Given the description of an element on the screen output the (x, y) to click on. 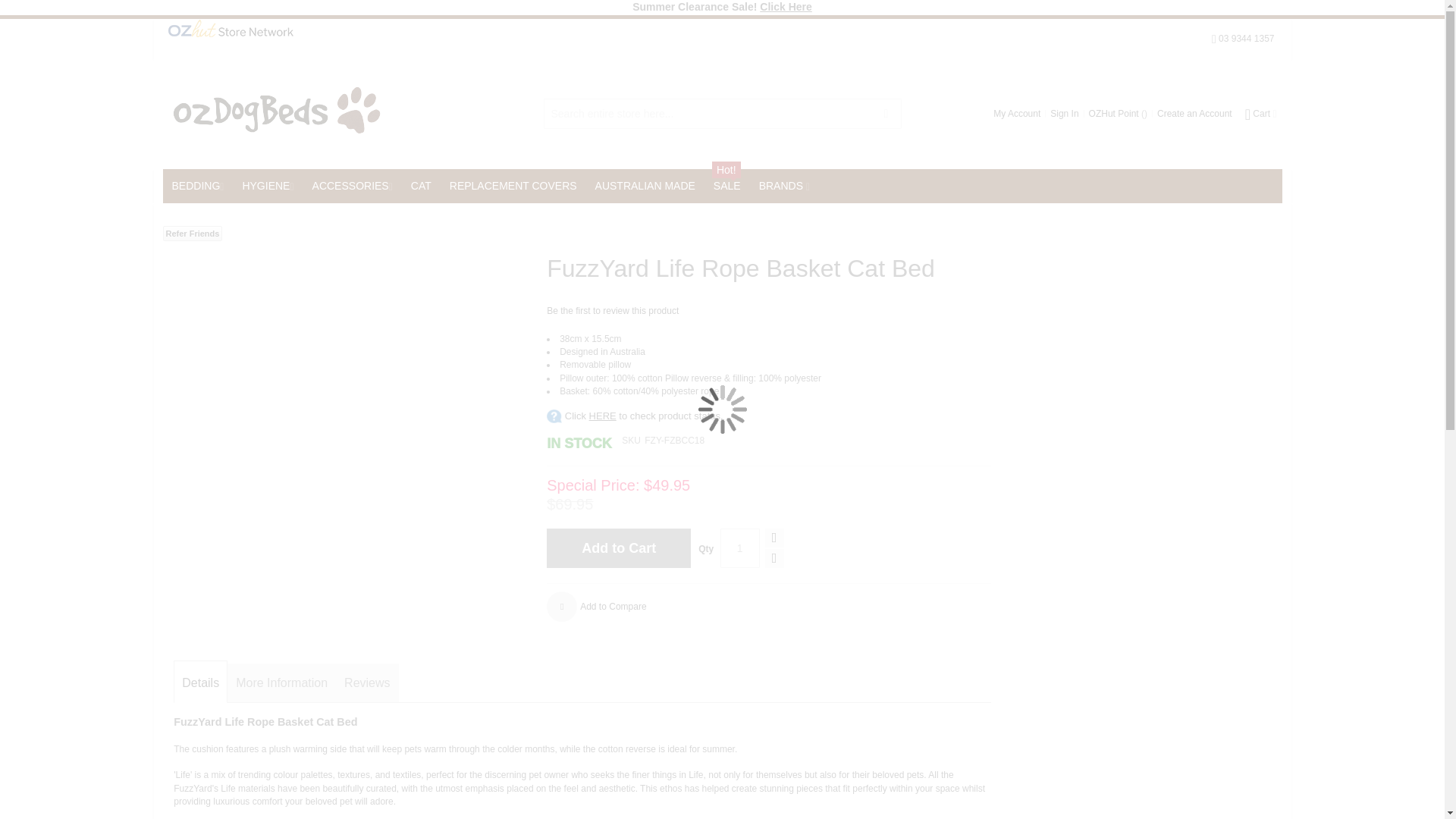
Summer Clearance Sale! Click Here (721, 6)
Create an Account (1194, 113)
OZHut Point (1118, 113)
HYGIENE (267, 185)
Sign In (1064, 113)
My Account (1016, 113)
BEDDING (196, 185)
OZDogBeds - Online Shopping (275, 112)
Search (886, 113)
1 (740, 548)
